Given the description of an element on the screen output the (x, y) to click on. 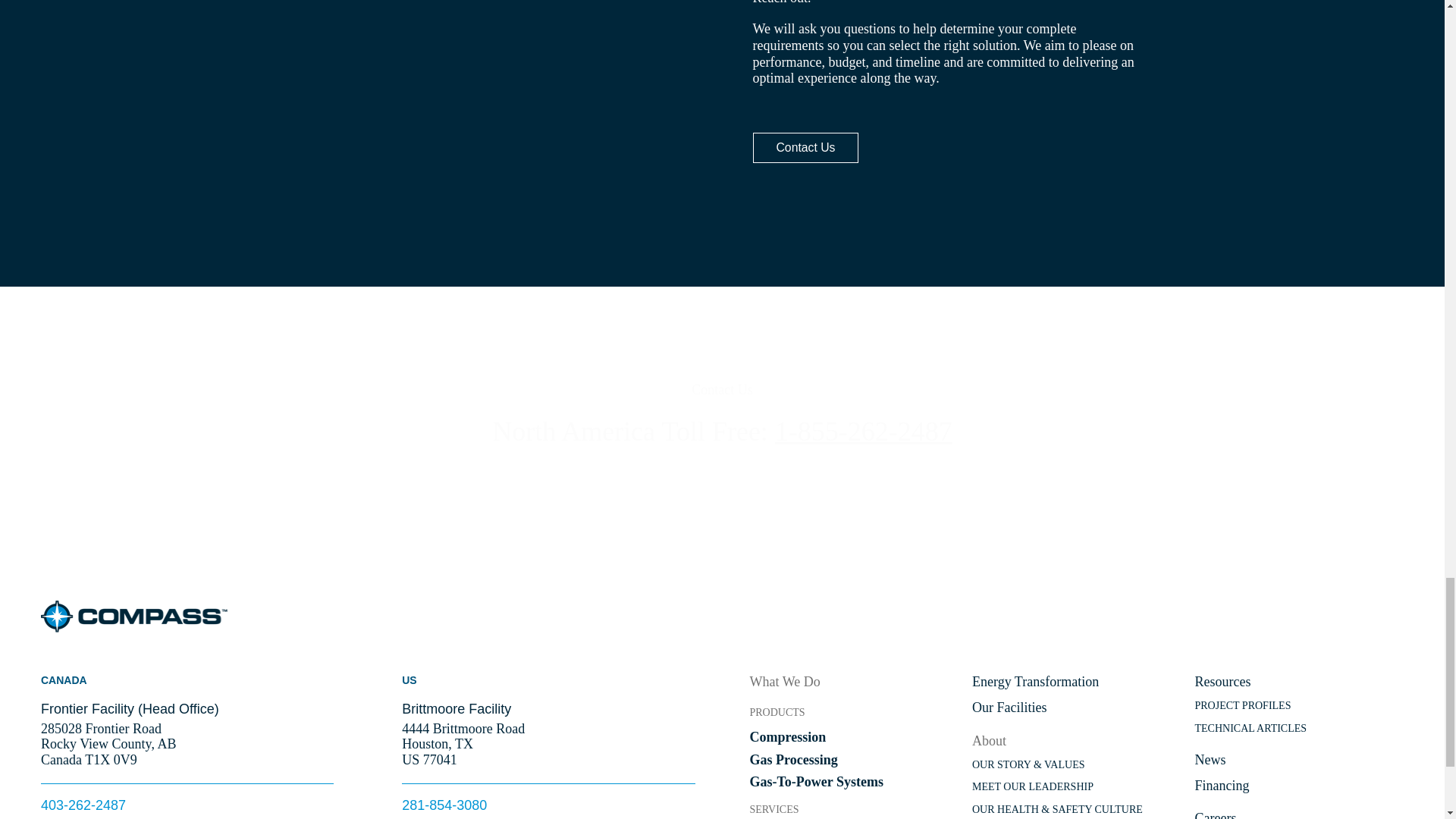
Careers (1300, 814)
News (1300, 765)
Gas-To-Power Systems (853, 784)
Compression (853, 740)
281-854-3080 (443, 805)
MEET OUR LEADERSHIP (1076, 792)
403-262-2487 (82, 805)
PROJECT PROFILES (1300, 711)
TECHNICAL ARTICLES (1300, 733)
Gas Processing (853, 763)
